Given the description of an element on the screen output the (x, y) to click on. 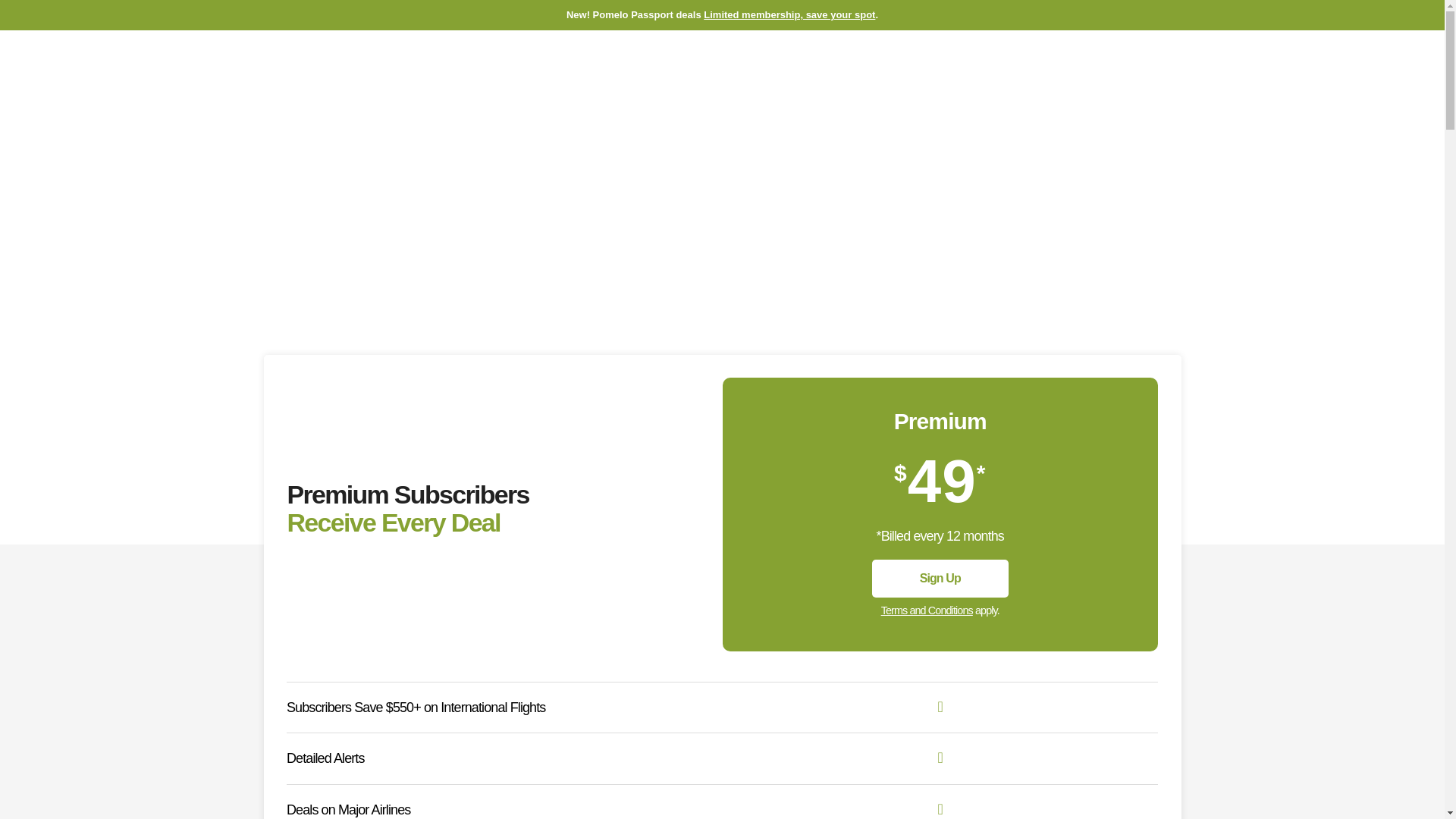
Outposts (476, 63)
Sign Up (1383, 63)
How It Works (301, 63)
Memberships (394, 63)
Terms and Conditions (926, 610)
Limited membership, save your spot (789, 14)
Sign Up (940, 578)
Member Stories (563, 63)
